Given the description of an element on the screen output the (x, y) to click on. 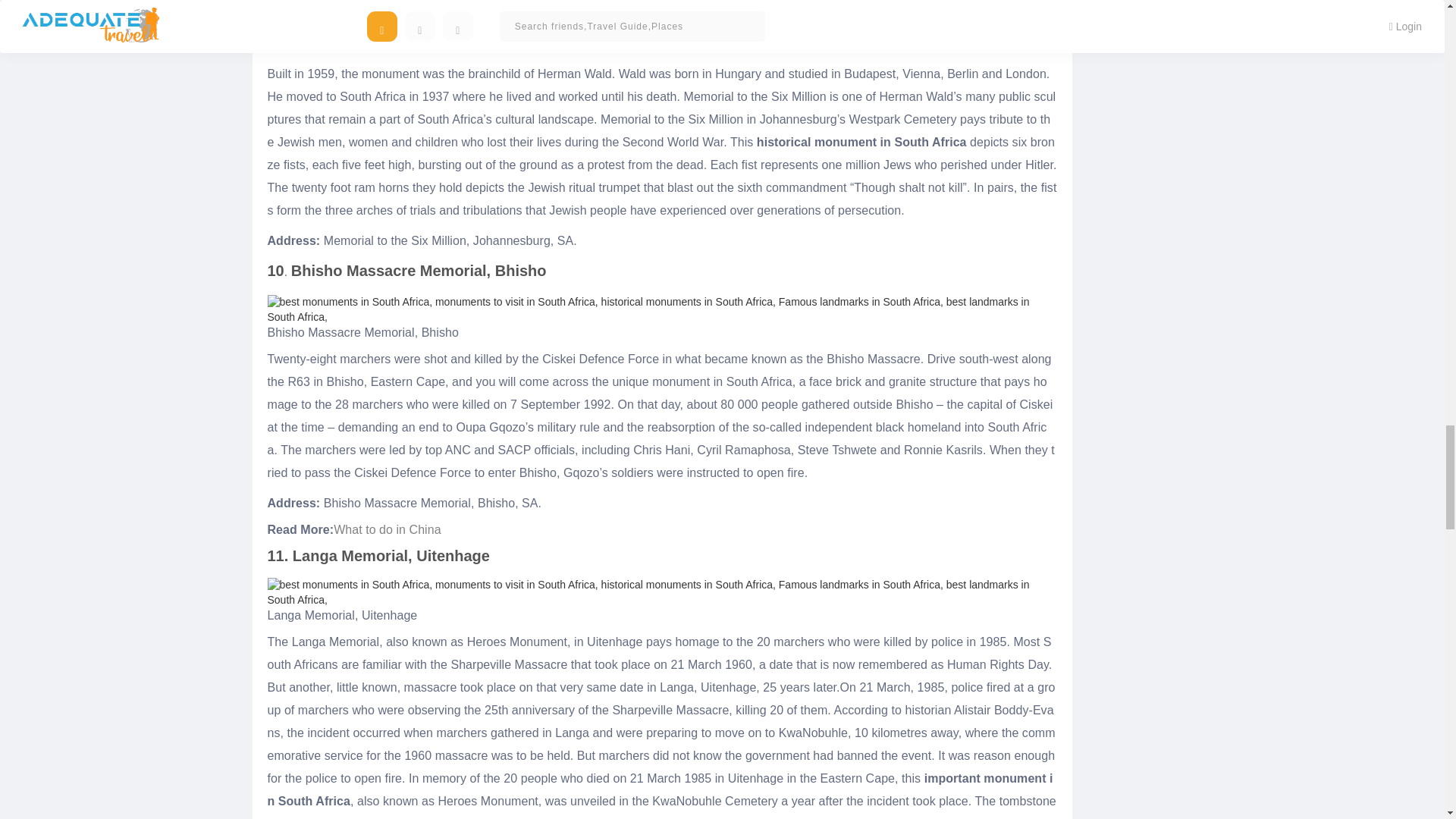
What to do in China (387, 529)
